Given the description of an element on the screen output the (x, y) to click on. 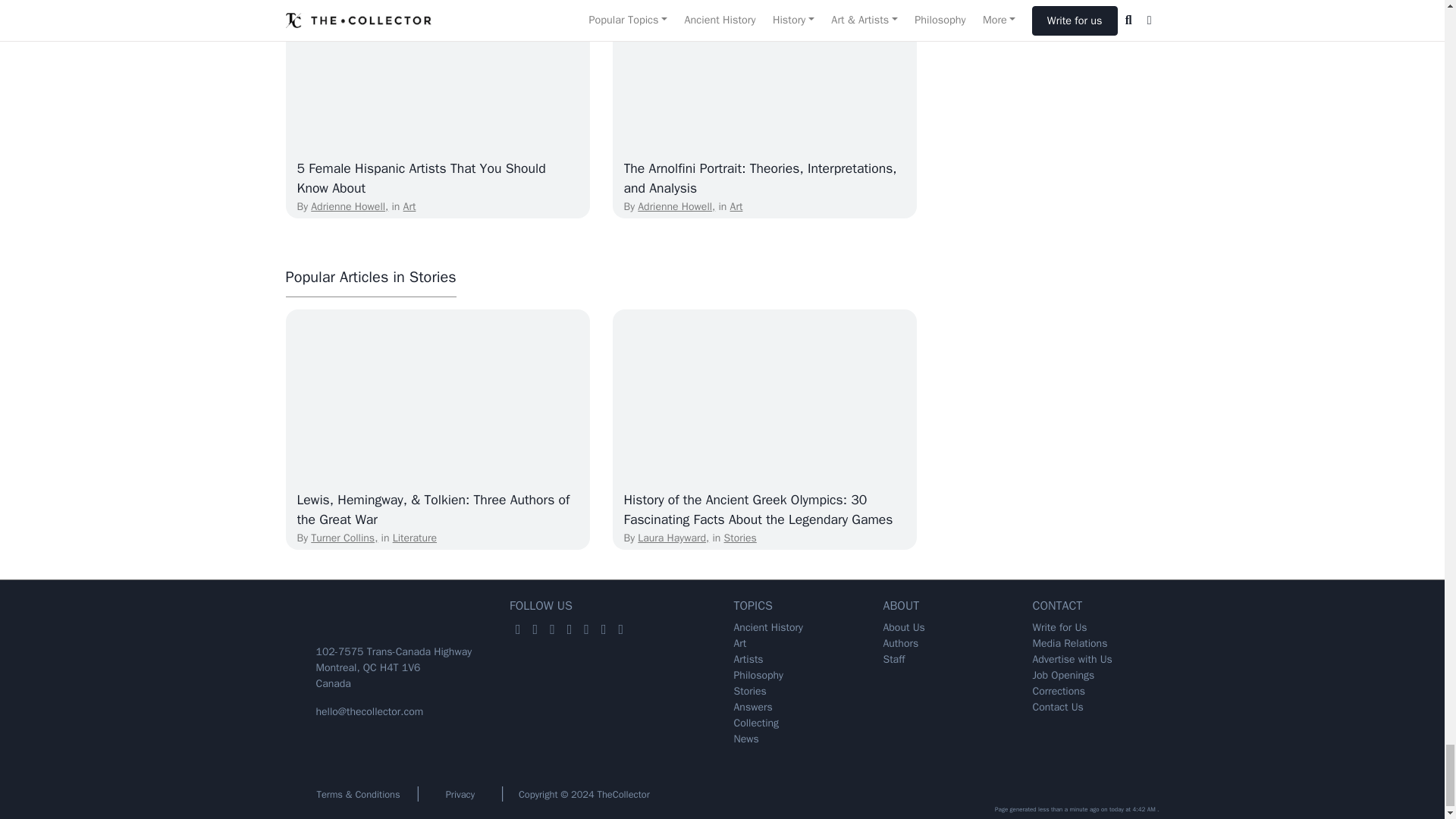
Page generated at 2024-08-02T04:42:26Z. (721, 809)
